Given the description of an element on the screen output the (x, y) to click on. 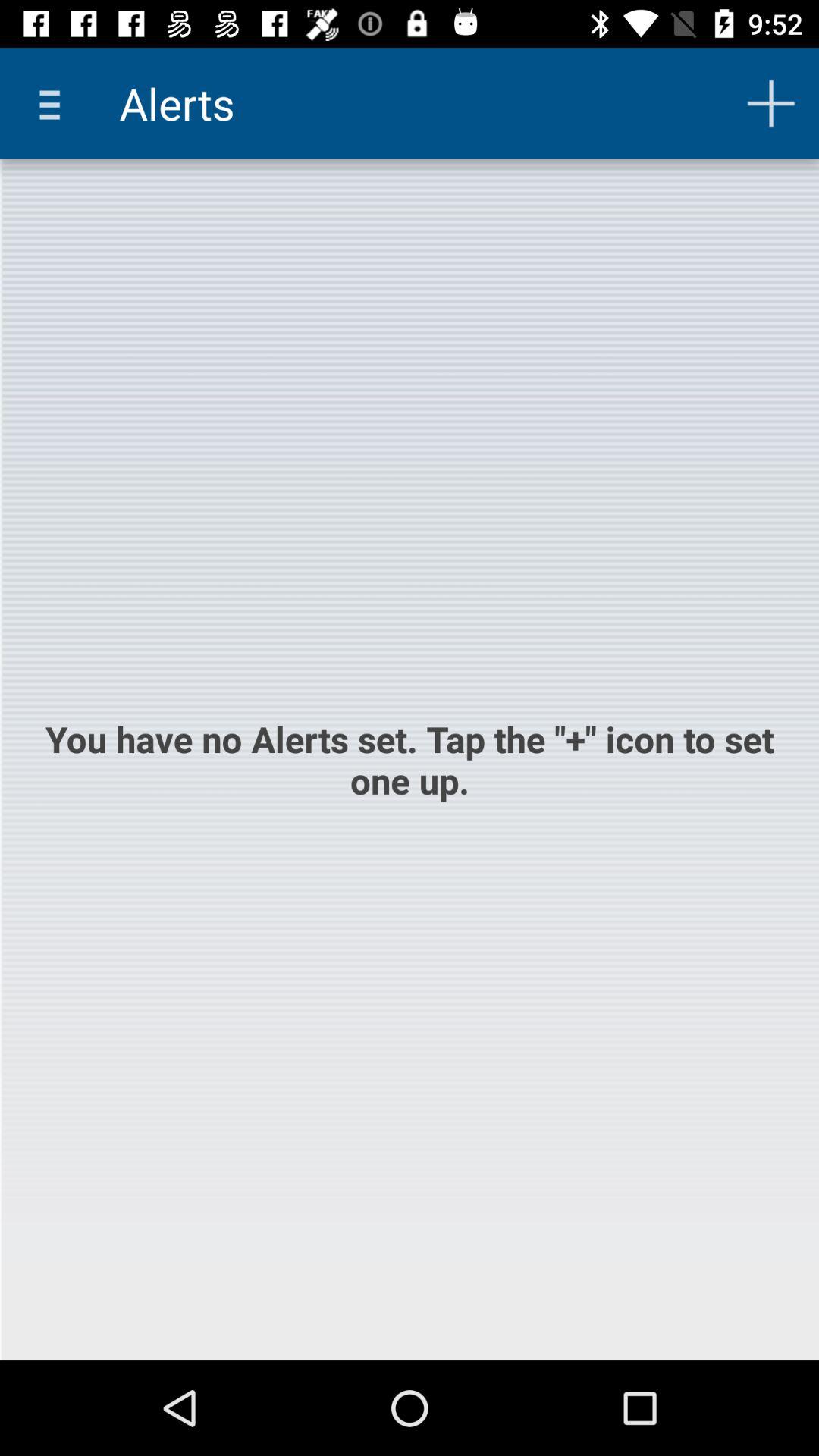
launch item next to the alerts (771, 103)
